Given the description of an element on the screen output the (x, y) to click on. 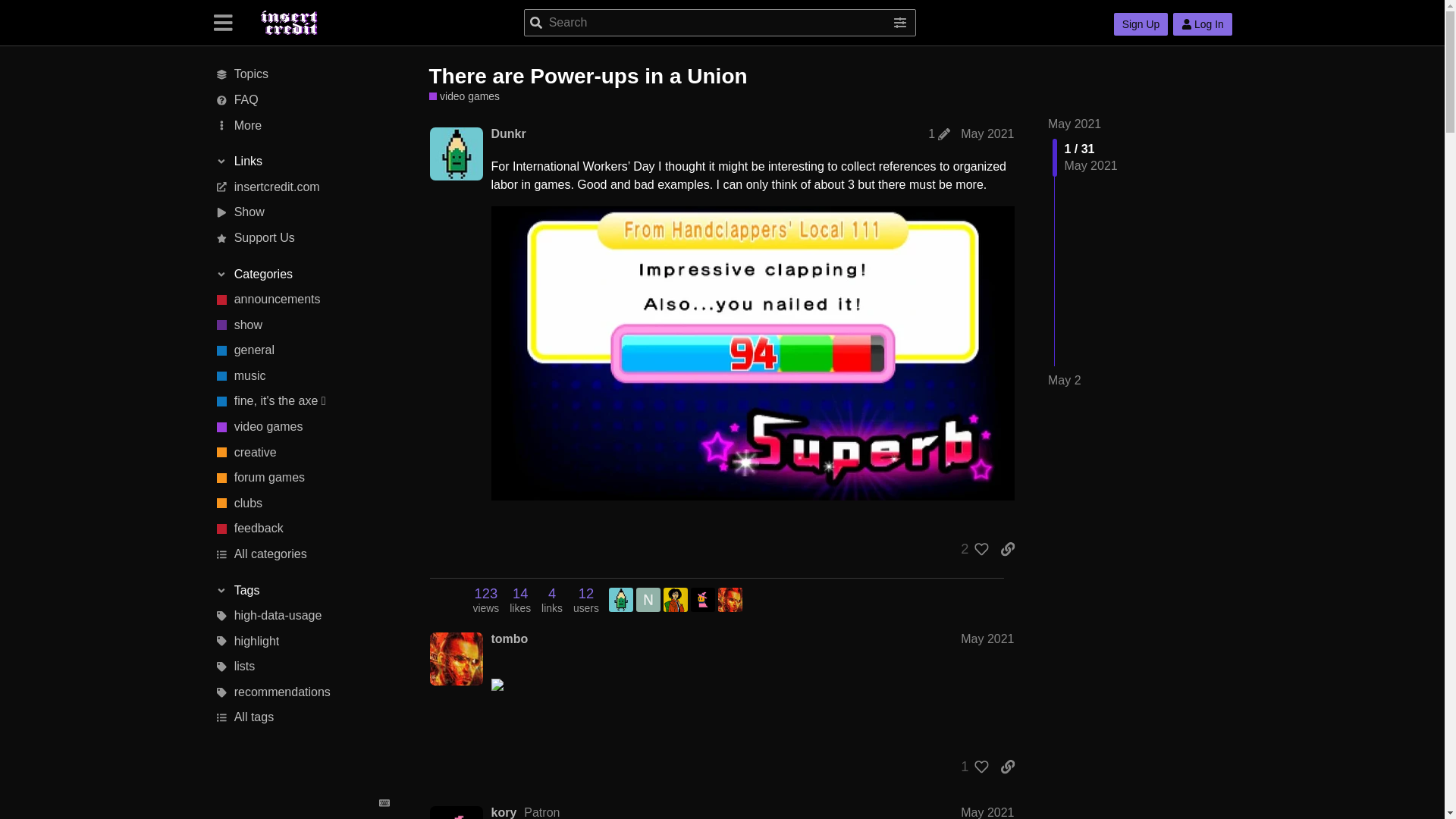
insertcredit.com (301, 186)
Support Us (301, 237)
All topics (301, 74)
show (301, 325)
Guidelines for using this site (301, 99)
FAQ (301, 99)
Log In (1202, 24)
Categories (302, 274)
Sign Up (1140, 24)
